Given the description of an element on the screen output the (x, y) to click on. 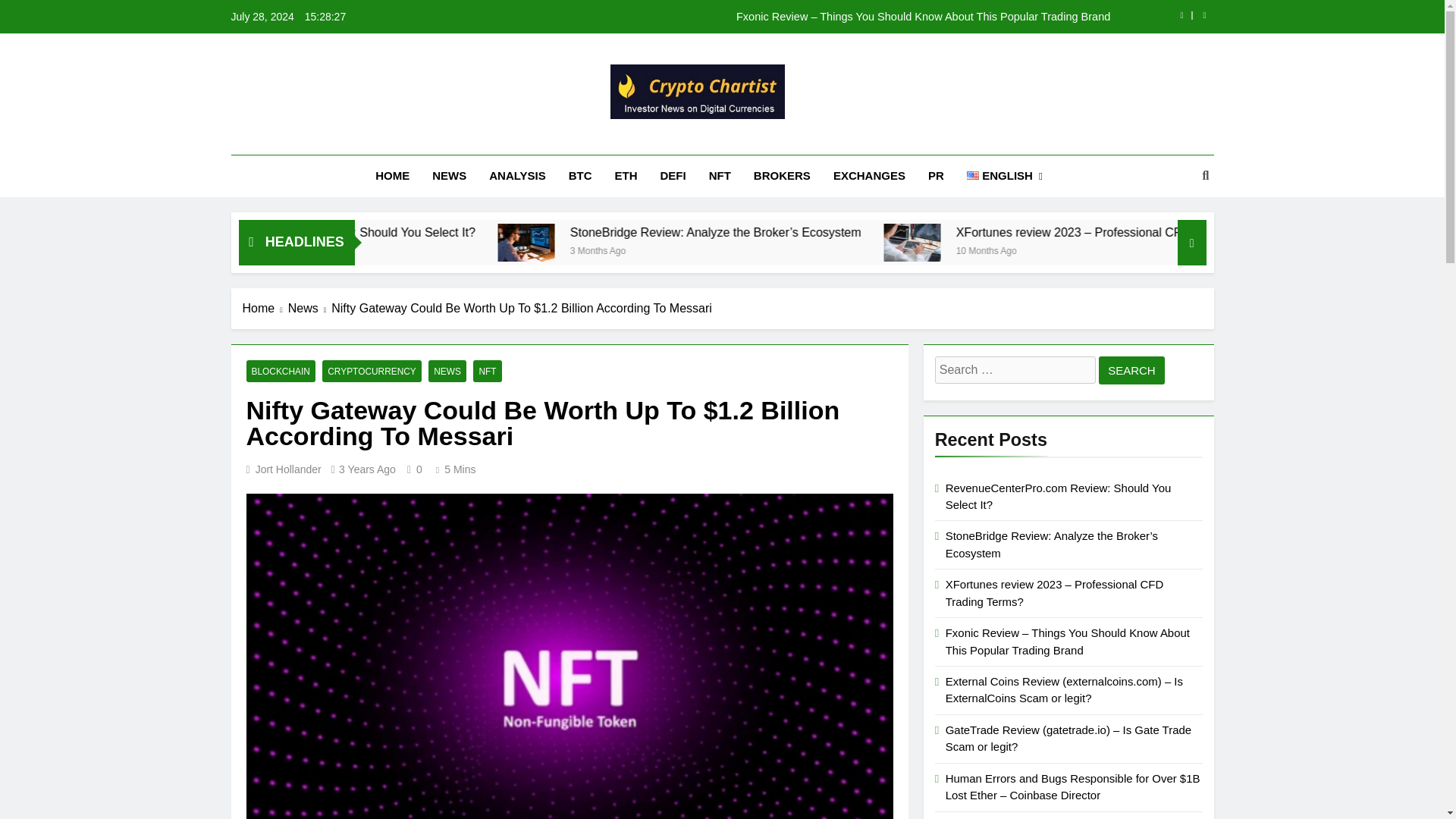
Crypto Trading Guide (594, 140)
RevenueCenterPro.com Review: Should You Select It? (519, 232)
BROKERS (782, 175)
Search (1131, 370)
ANALYSIS (516, 175)
2 Months Ago (395, 249)
NEWS (448, 175)
DEFI (673, 175)
EXCHANGES (869, 175)
3 Months Ago (780, 249)
HOME (392, 175)
PR (936, 175)
BTC (580, 175)
Search (1131, 370)
ETH (626, 175)
